Given the description of an element on the screen output the (x, y) to click on. 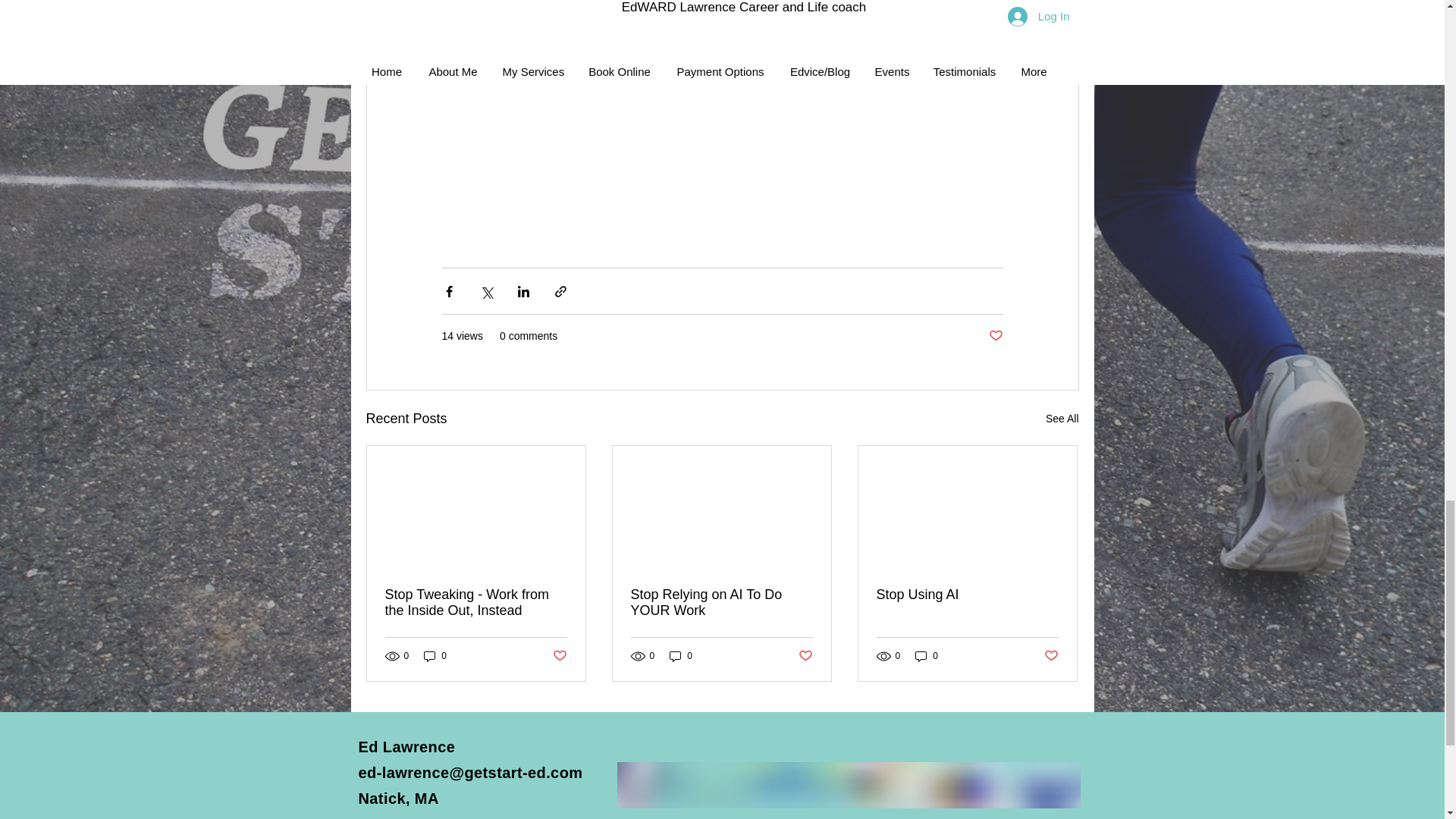
0 (435, 656)
See All (1061, 418)
Post not marked as liked (995, 335)
Stop Tweaking - Work from the Inside Out, Instead (476, 603)
Post not marked as liked (558, 656)
0 (681, 656)
Stop Relying on AI To Do YOUR Work (721, 603)
